Given the description of an element on the screen output the (x, y) to click on. 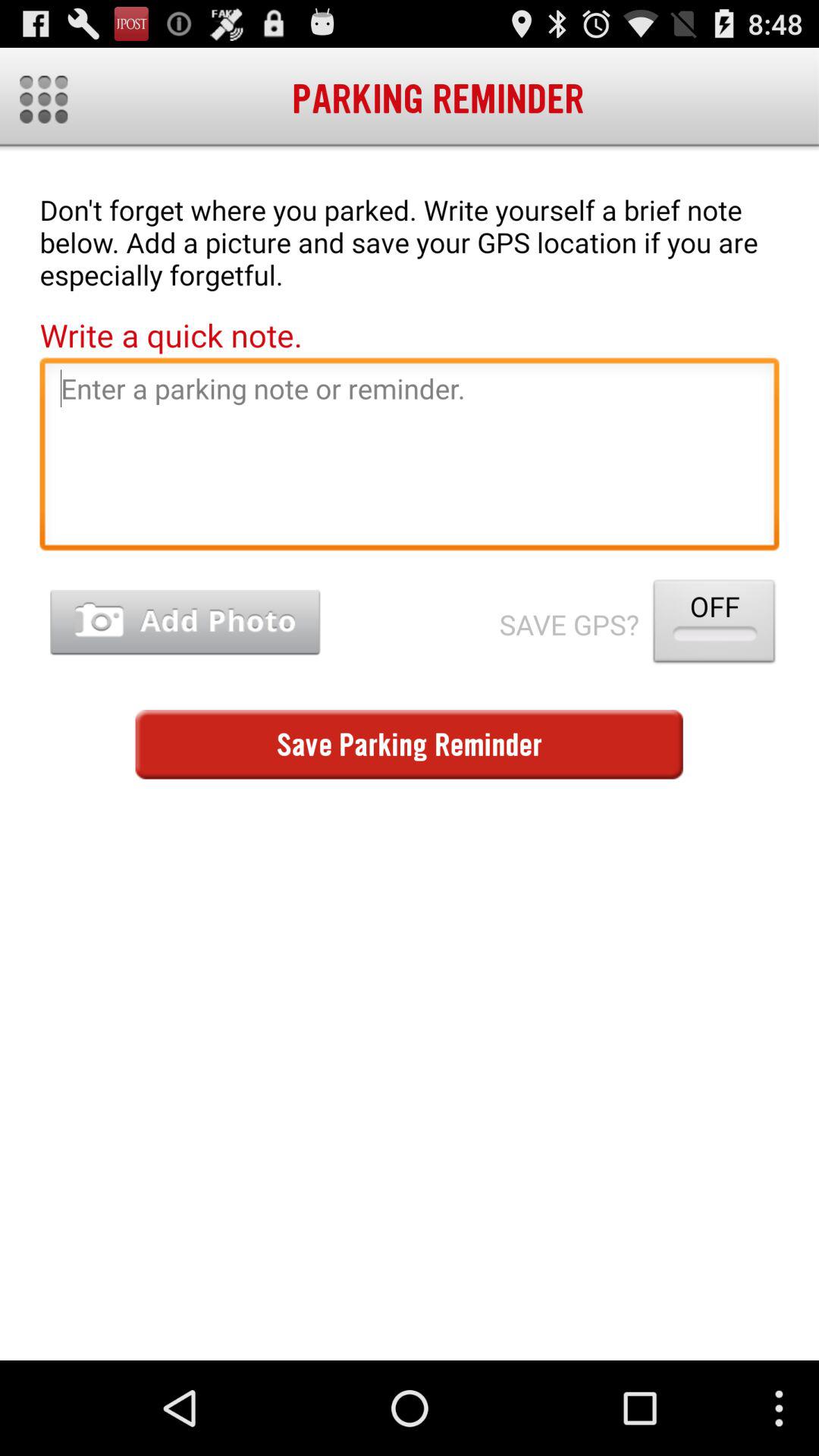
launch item on the left (185, 622)
